Given the description of an element on the screen output the (x, y) to click on. 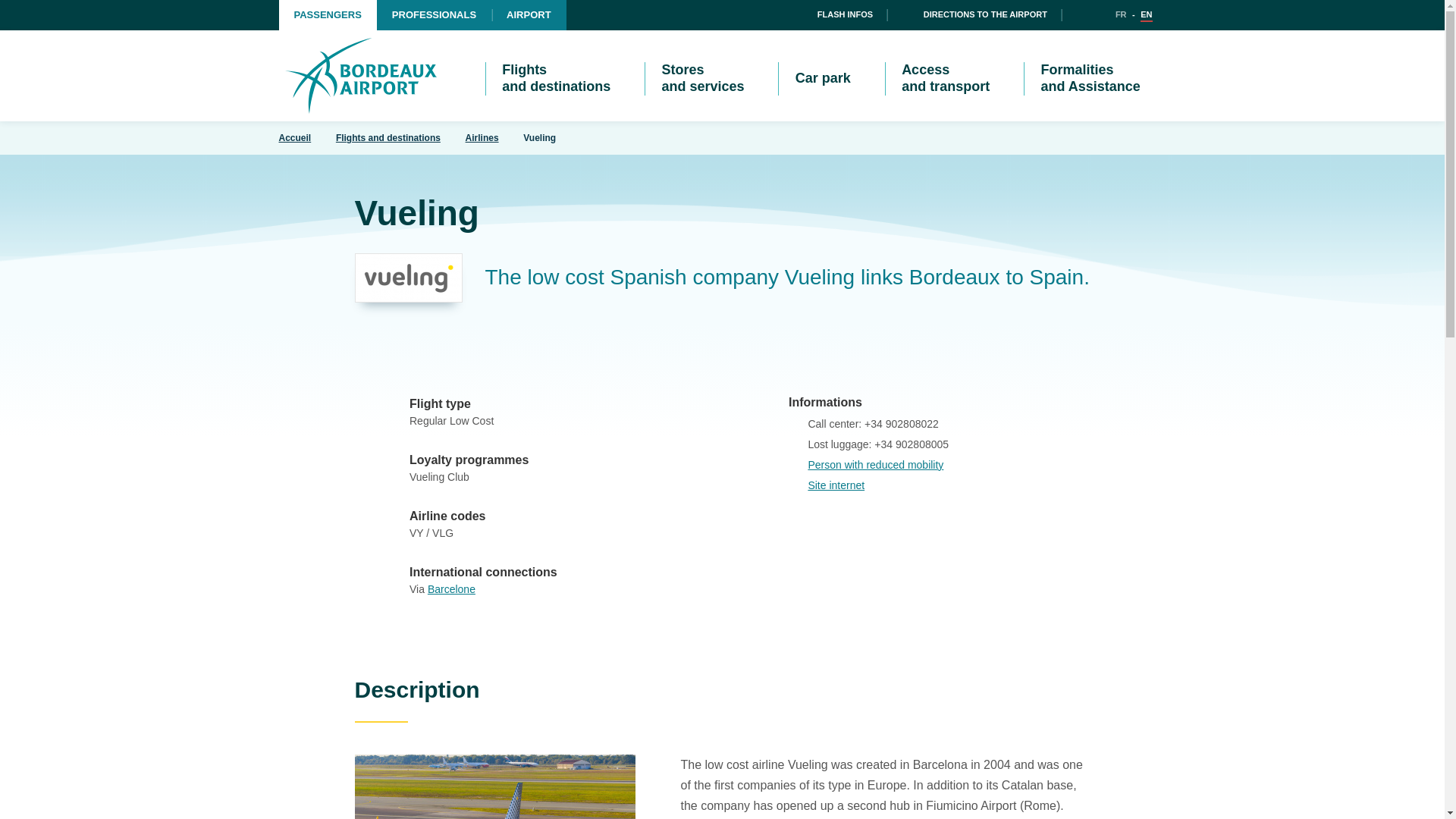
PASSENGERS (328, 15)
PROFESSIONALS (434, 15)
AIRPORT (529, 15)
Accueil (360, 75)
